Given the description of an element on the screen output the (x, y) to click on. 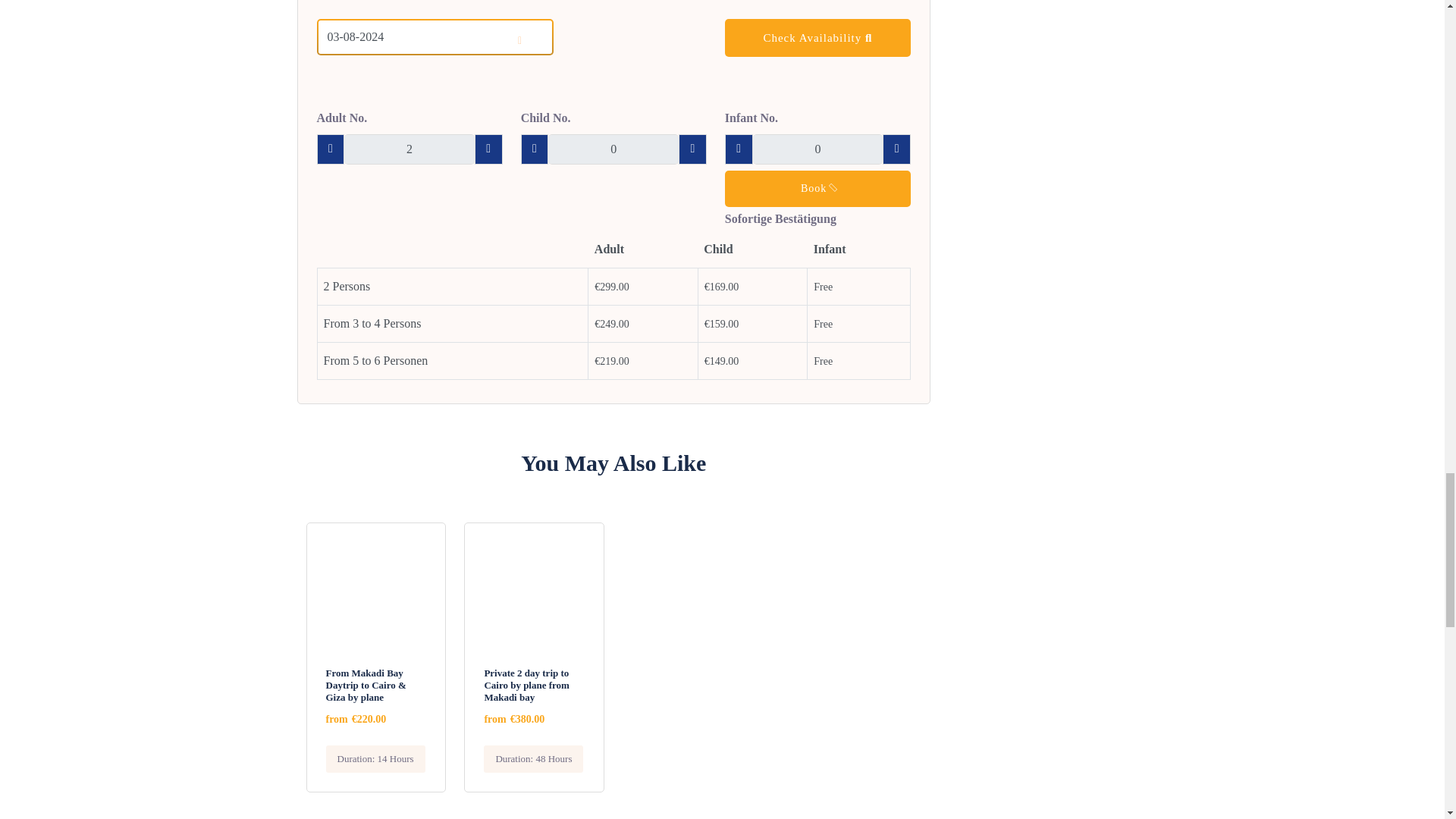
0 (817, 149)
Check Availability (818, 37)
03-08-2024 (435, 36)
0 (613, 149)
2 (408, 149)
Book (818, 188)
